Given the description of an element on the screen output the (x, y) to click on. 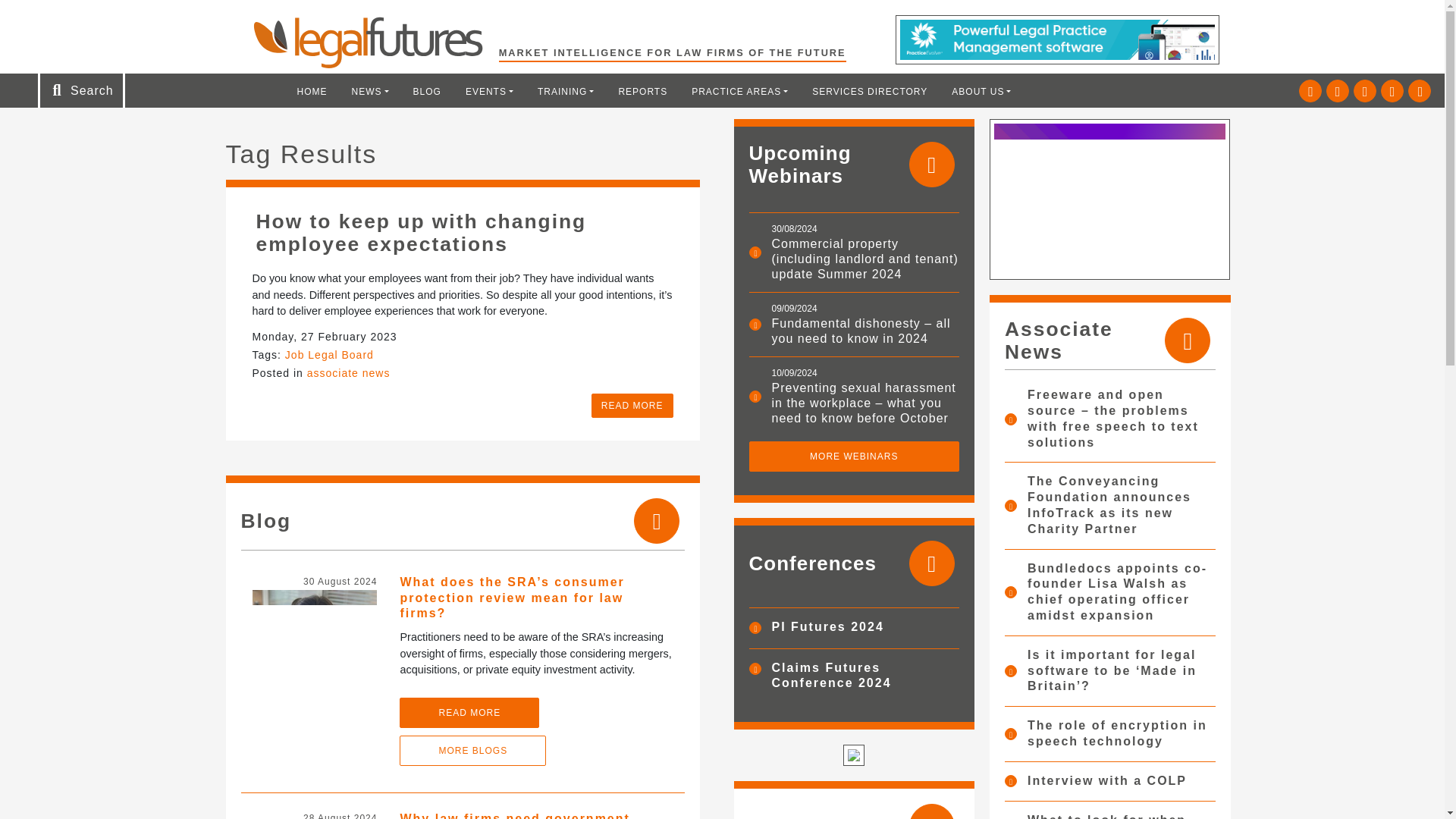
SERVICES DIRECTORY (869, 91)
See Legal Futures on Linkedin-in (1337, 90)
News (370, 91)
See Legal Futures on Twitter (1310, 90)
Blog (426, 91)
See Legal Futures on Facebook-f (1364, 90)
NEWS (370, 91)
REPORTS (642, 91)
Home (312, 91)
HOME (312, 91)
